Given the description of an element on the screen output the (x, y) to click on. 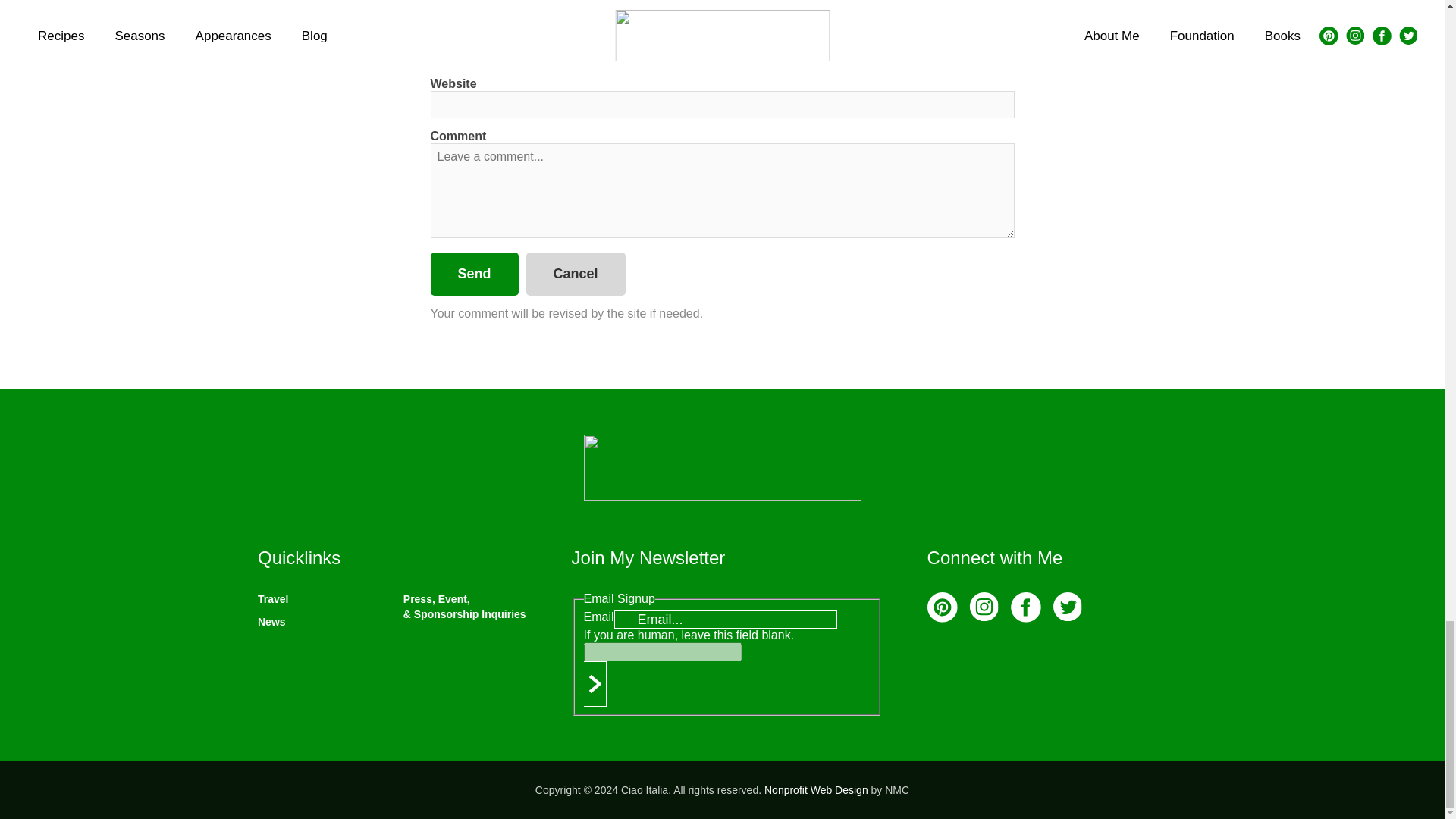
Travel (272, 598)
Send (474, 273)
News (271, 621)
Cancel (575, 273)
Nonprofit Web Design (815, 789)
